Given the description of an element on the screen output the (x, y) to click on. 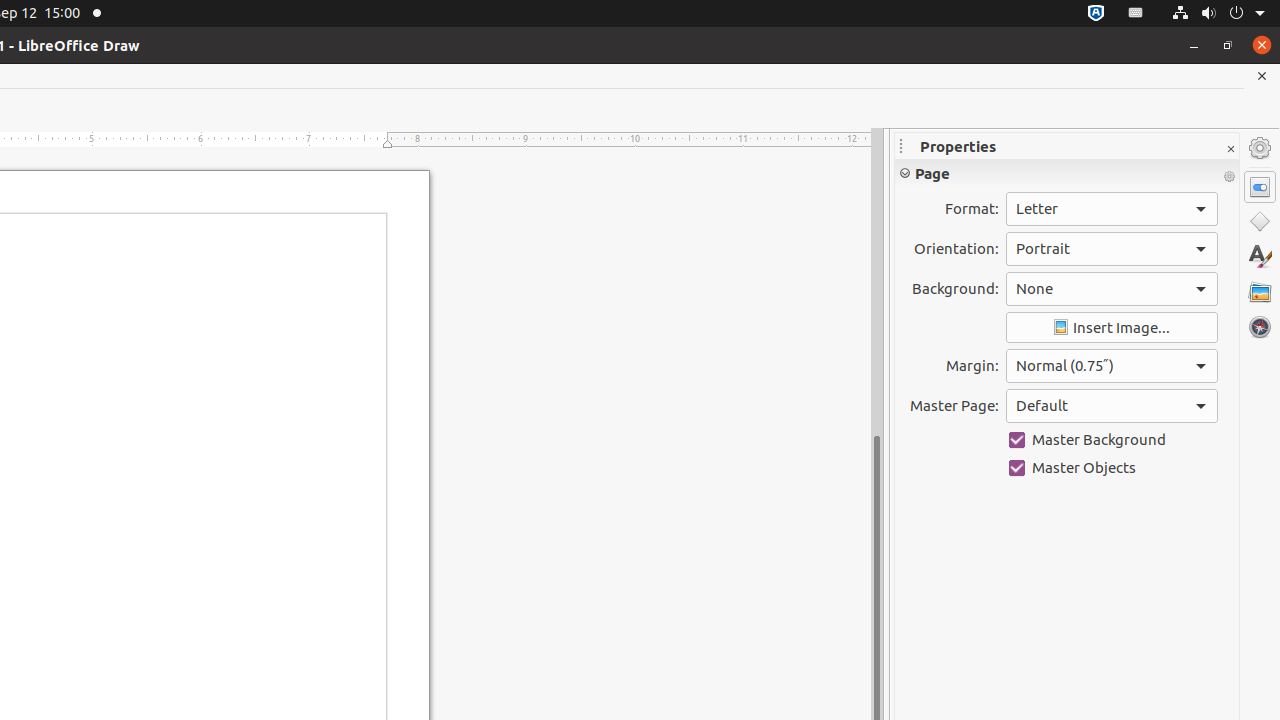
Margin: Element type: combo-box (1112, 366)
Styles Element type: radio-button (1260, 256)
